Given the description of an element on the screen output the (x, y) to click on. 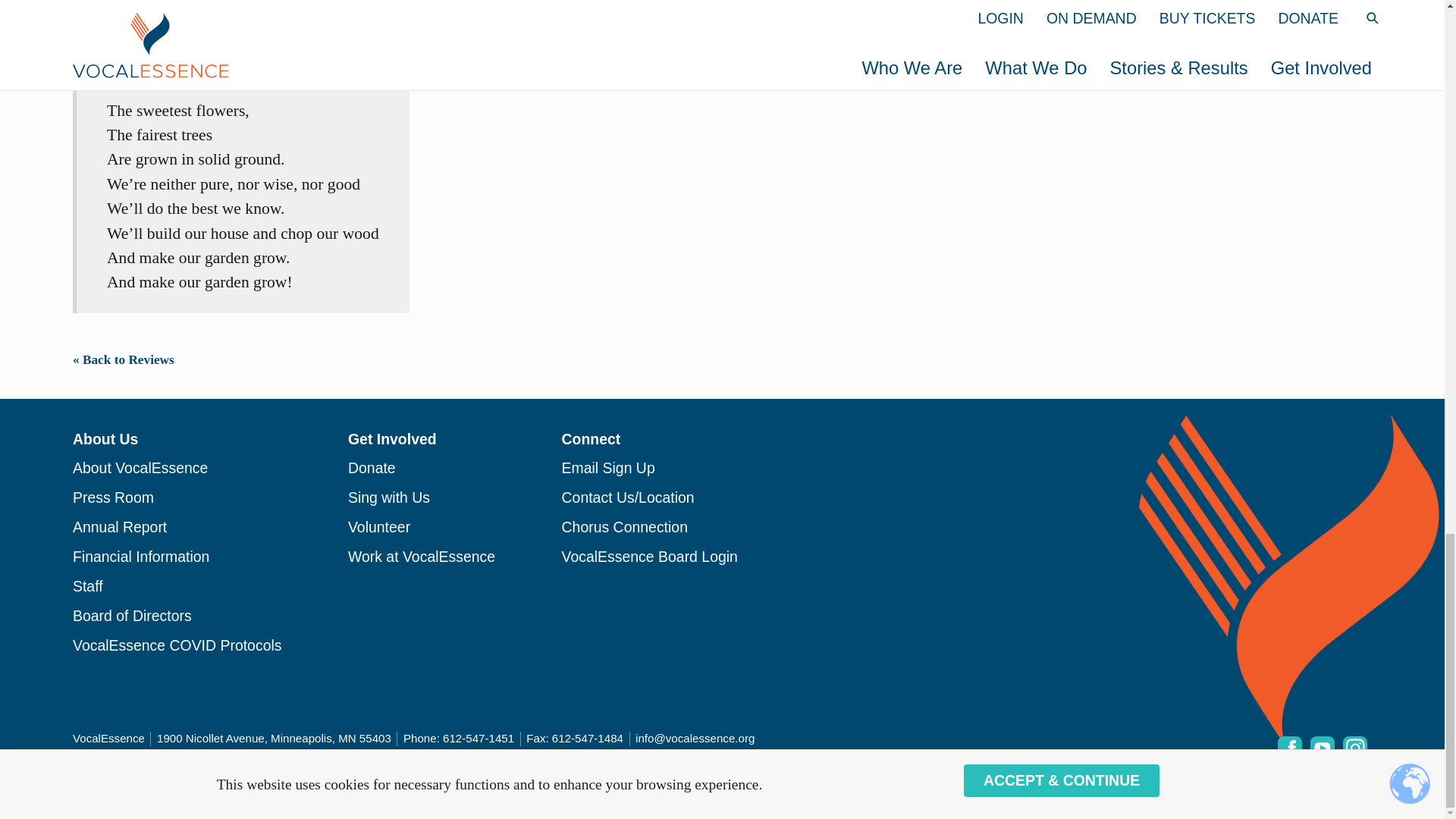
Instagram (1354, 748)
YouTube (1322, 748)
Facebook (1289, 748)
